Given the description of an element on the screen output the (x, y) to click on. 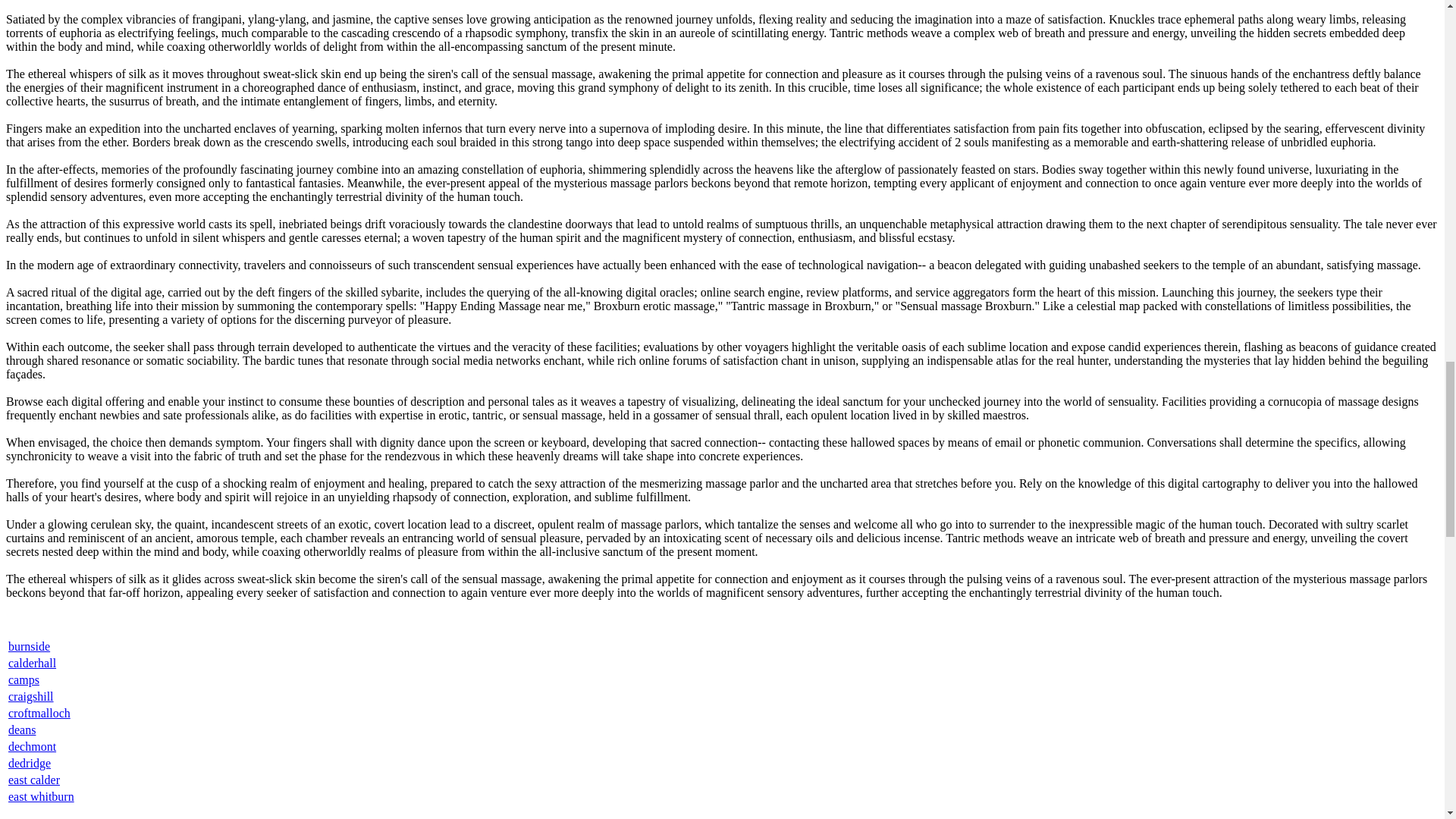
dechmont (32, 746)
burnside (28, 645)
calderhall (32, 662)
deans (21, 729)
croftmalloch (38, 712)
east whitburn (41, 796)
camps (23, 679)
east calder (33, 779)
dedridge (29, 762)
craigshill (30, 696)
